Given the description of an element on the screen output the (x, y) to click on. 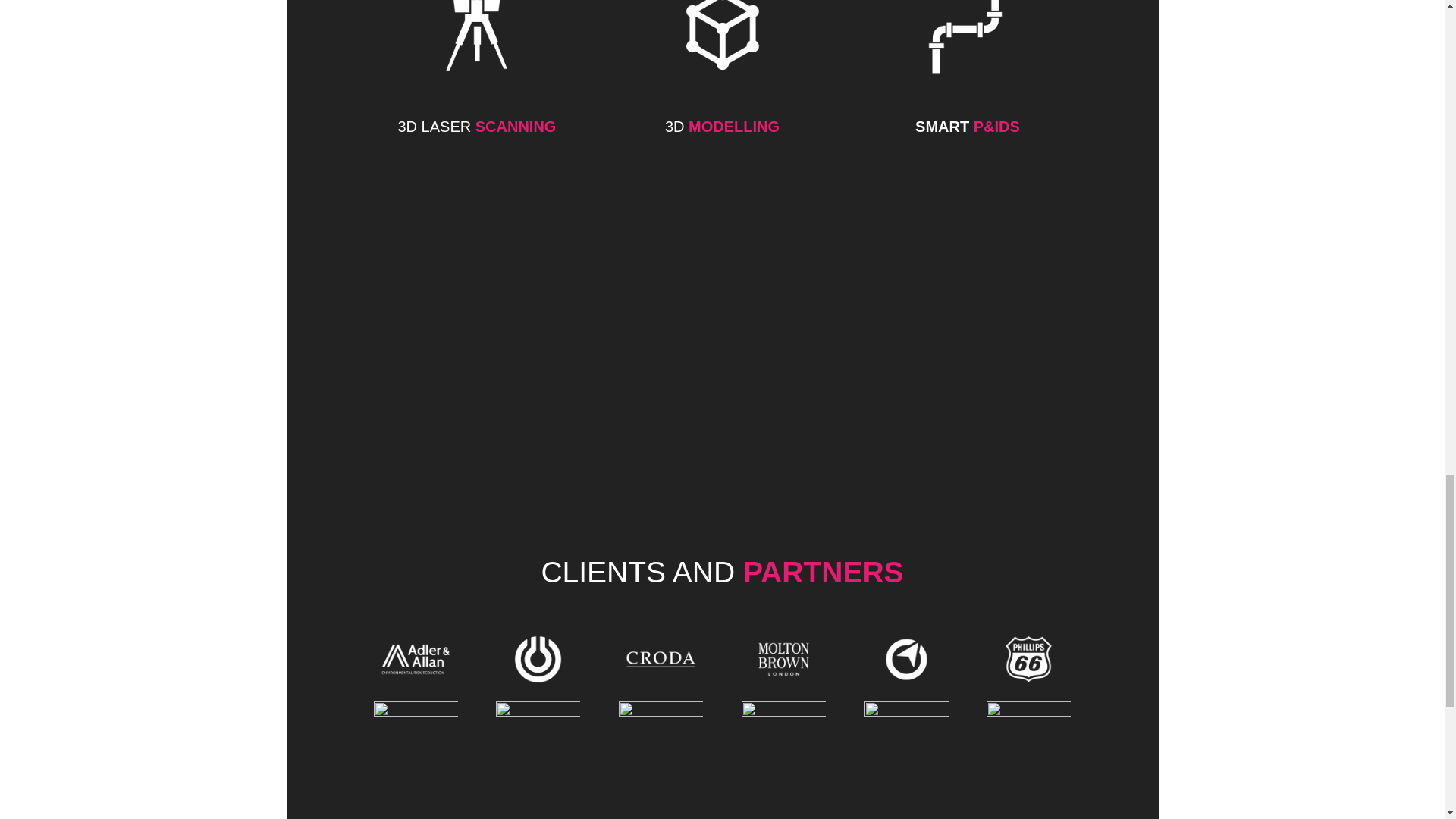
ADLER (414, 659)
pid-white (967, 49)
laser-white (476, 49)
3d-white (721, 49)
